Given the description of an element on the screen output the (x, y) to click on. 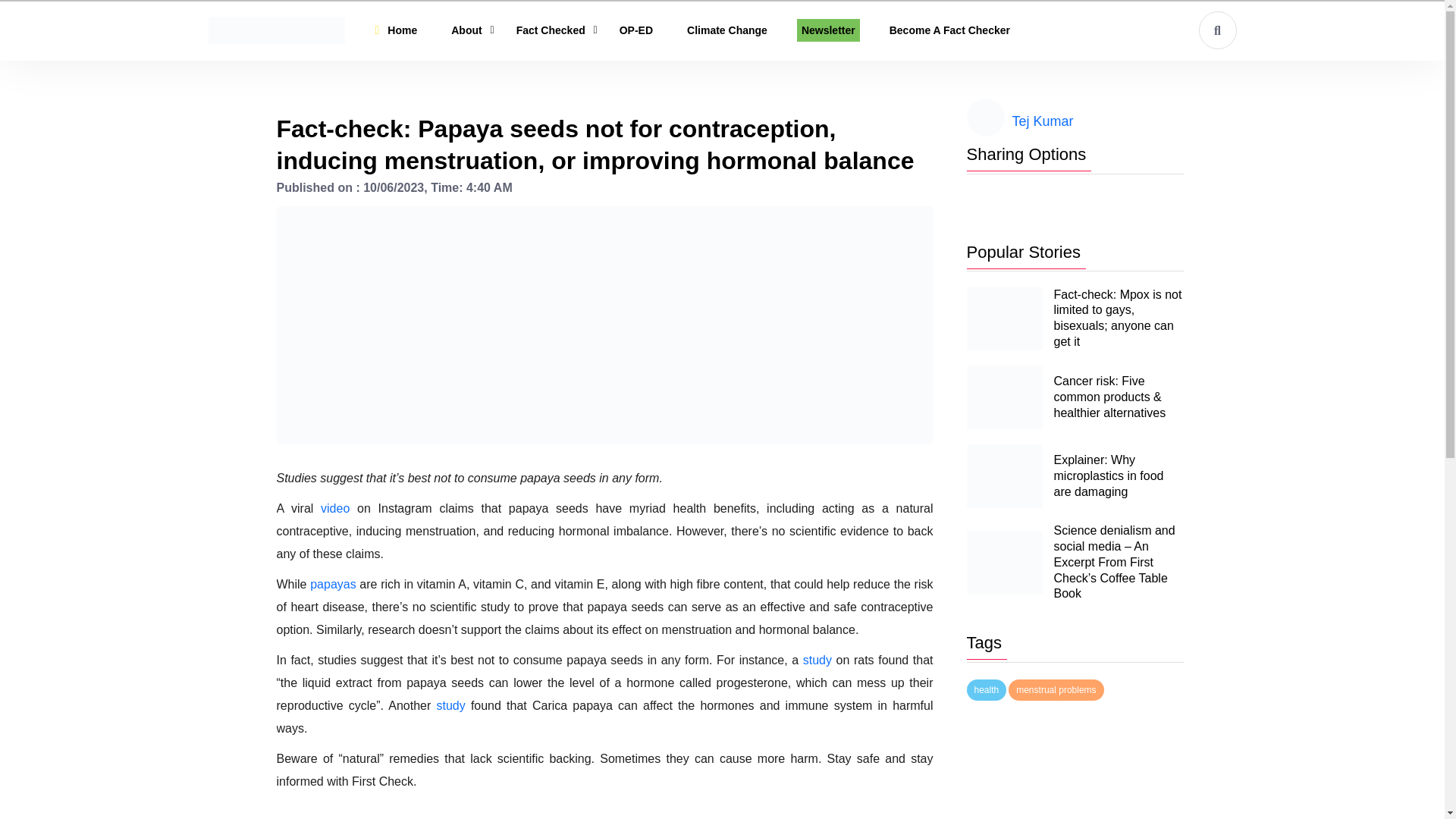
Fact Checked (466, 29)
Climate Change (726, 29)
OP-ED (636, 29)
Become A Fact Checker (949, 29)
Home (402, 29)
Newsletter (828, 29)
Tej Kumar (1042, 120)
Fact Checked (550, 29)
About (466, 29)
